Given the description of an element on the screen output the (x, y) to click on. 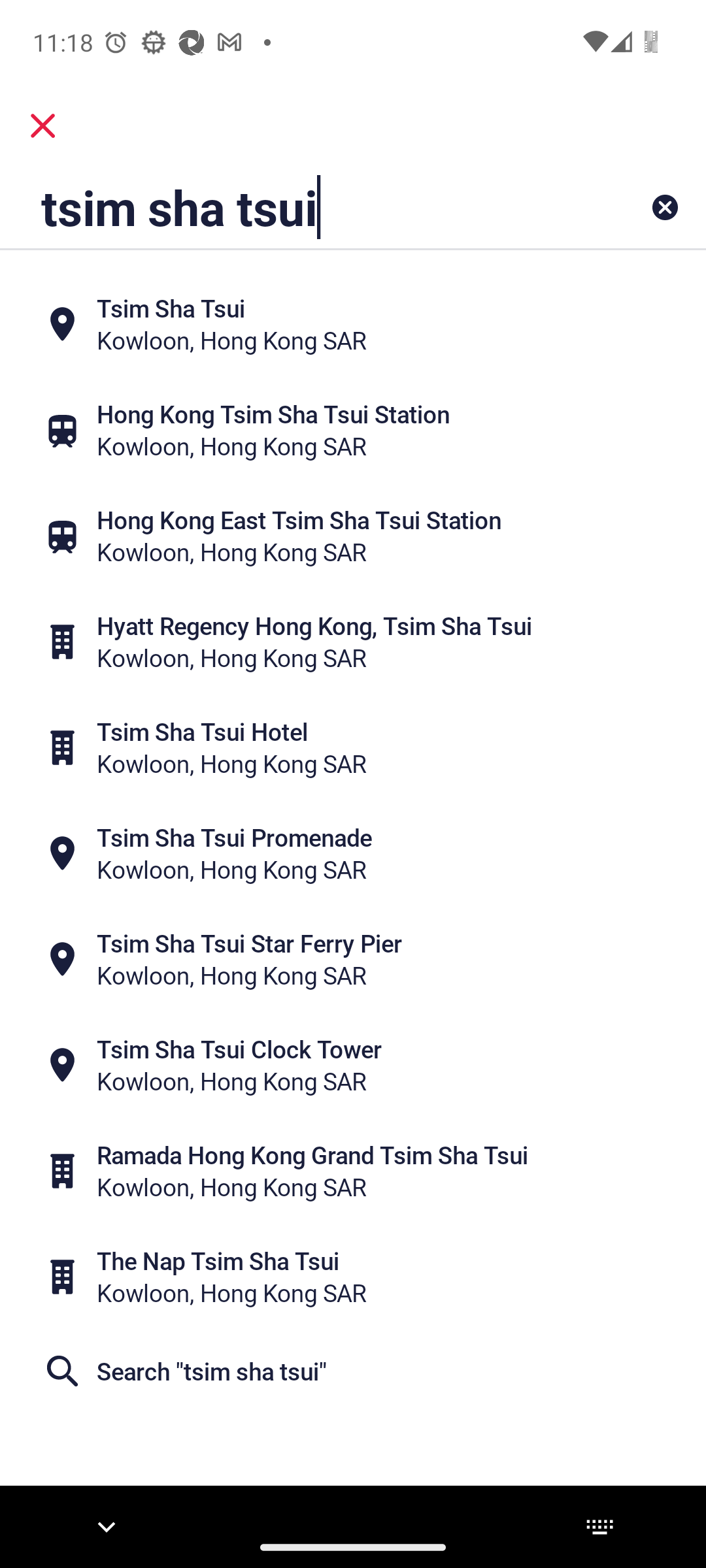
close. (43, 125)
tsim sha tsui (290, 206)
Clear (664, 206)
Tsim Sha Tsui Kowloon, Hong Kong SAR (353, 323)
Tsim Sha Tsui Hotel Kowloon, Hong Kong SAR (353, 746)
Tsim Sha Tsui Promenade Kowloon, Hong Kong SAR (353, 852)
Tsim Sha Tsui Clock Tower Kowloon, Hong Kong SAR (353, 1064)
The Nap Tsim Sha Tsui Kowloon, Hong Kong SAR (353, 1276)
Search "tsim sha tsui" (353, 1370)
